Given the description of an element on the screen output the (x, y) to click on. 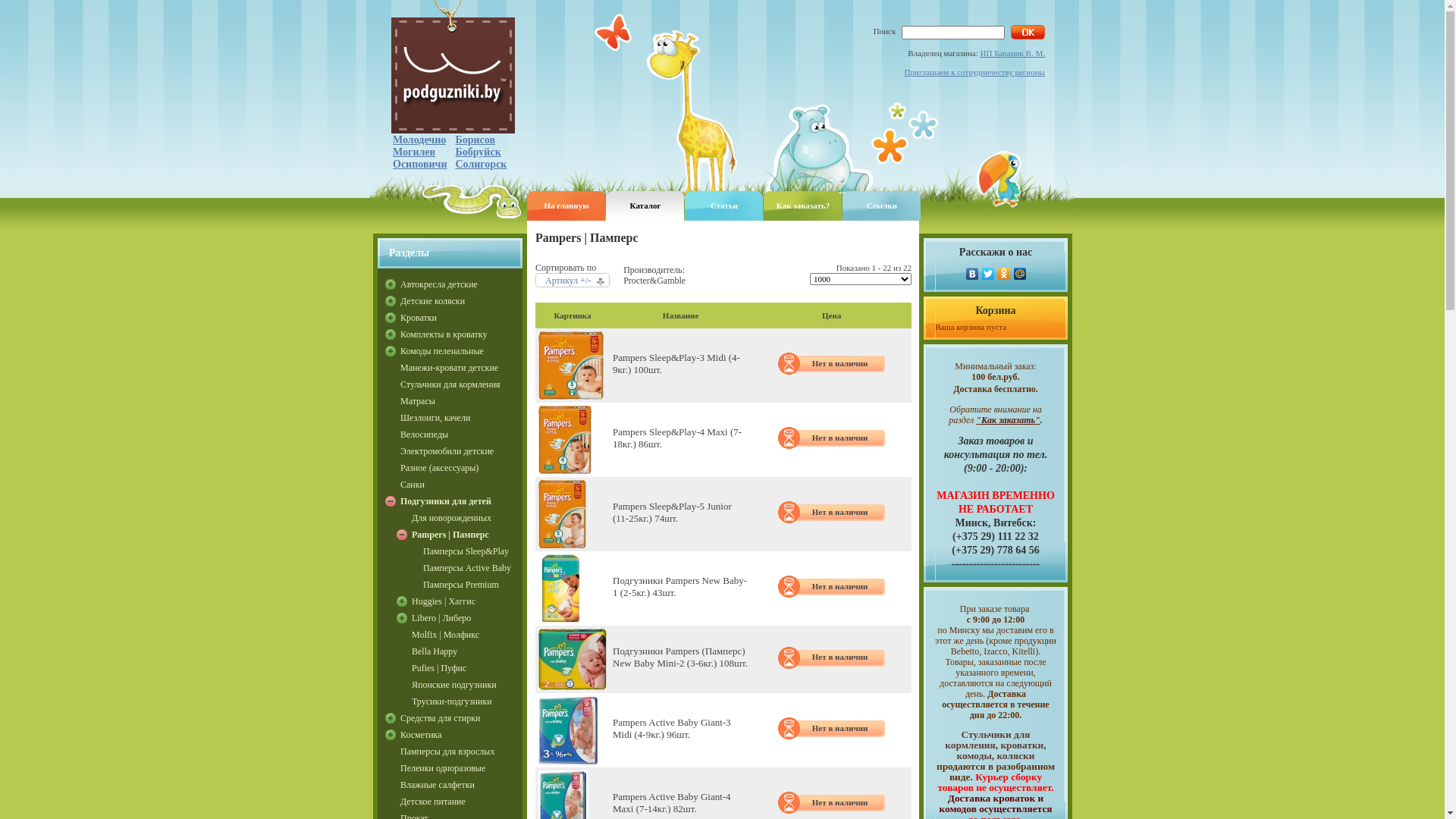
Twitter Element type: hover (987, 273)
OK Element type: text (1027, 32)
Bella Happy Element type: text (466, 651)
